Given the description of an element on the screen output the (x, y) to click on. 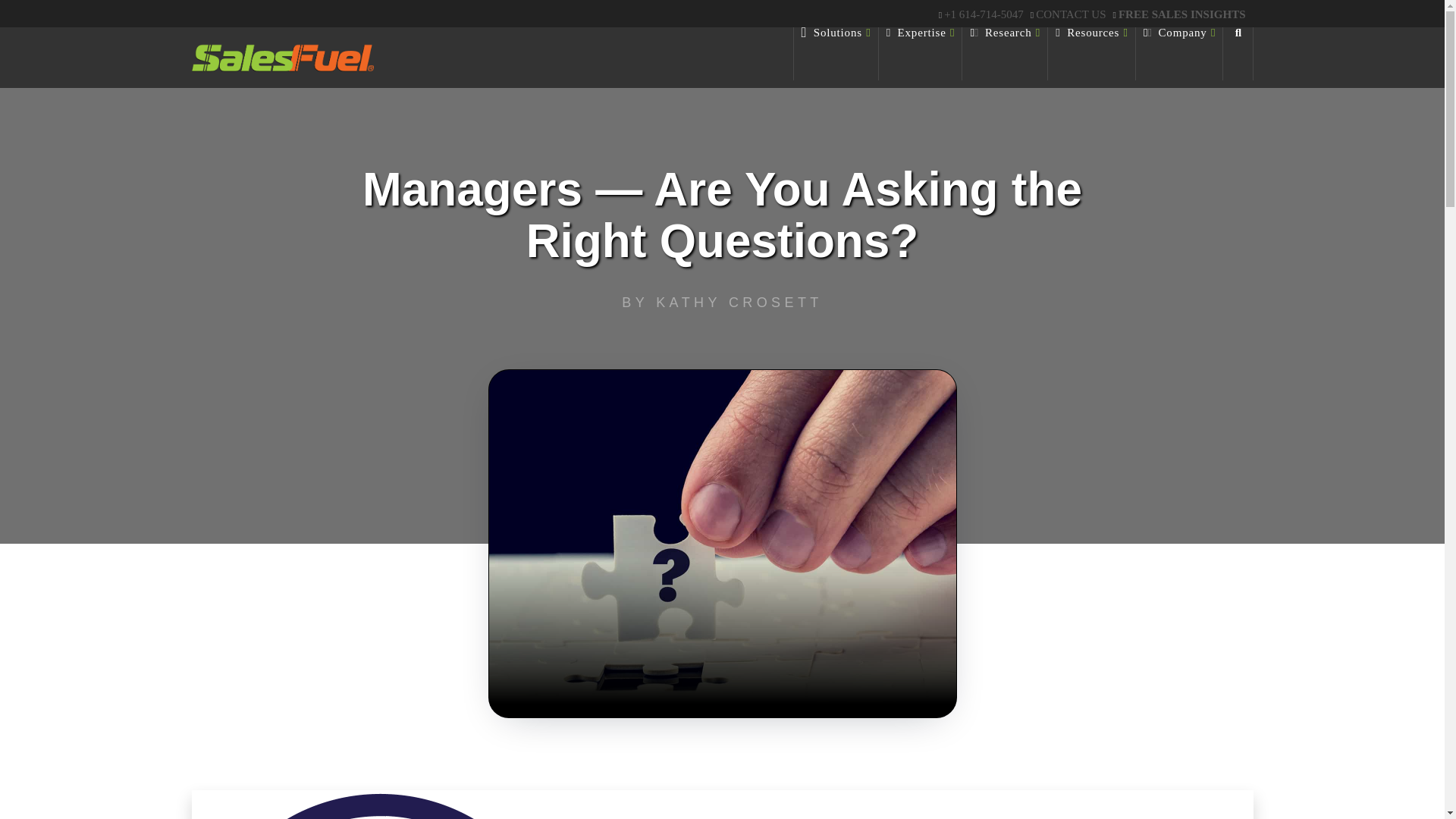
Research (1005, 53)
Company (1179, 53)
Expertise (920, 53)
FREE SALES INSIGHTS (1182, 14)
Resources (1091, 53)
Solutions (836, 53)
CONTACT US (1070, 14)
